Given the description of an element on the screen output the (x, y) to click on. 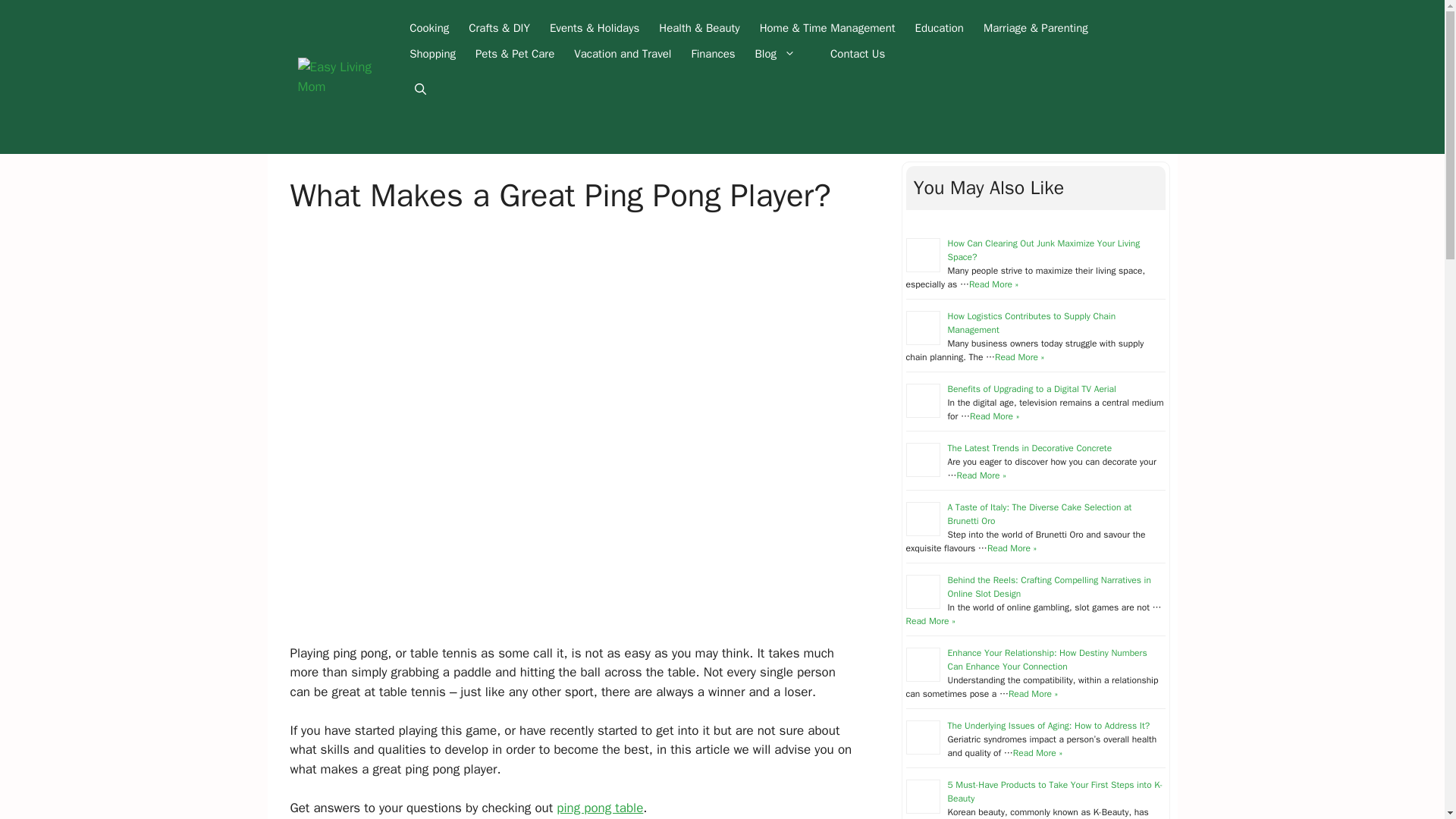
Cooking (428, 27)
Finances (712, 53)
Blog (783, 53)
Vacation and Travel (622, 53)
Education (939, 27)
Shopping (431, 53)
